Given the description of an element on the screen output the (x, y) to click on. 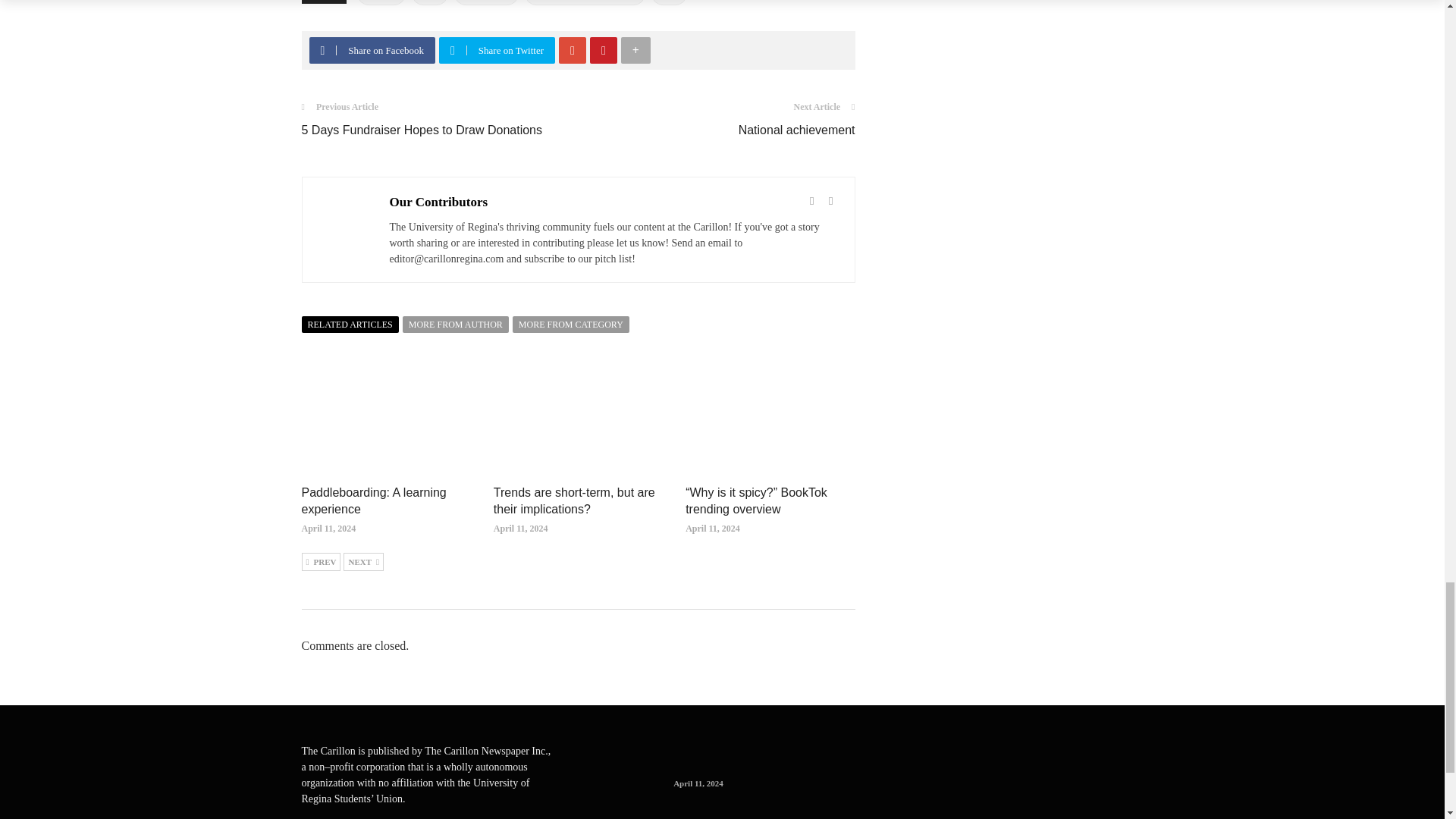
View all posts tagged film (430, 2)
View all posts tagged uofr (668, 2)
View all posts tagged living skies (486, 2)
View all posts tagged festival (381, 2)
View all posts tagged Living Skies film festival (584, 2)
